Given the description of an element on the screen output the (x, y) to click on. 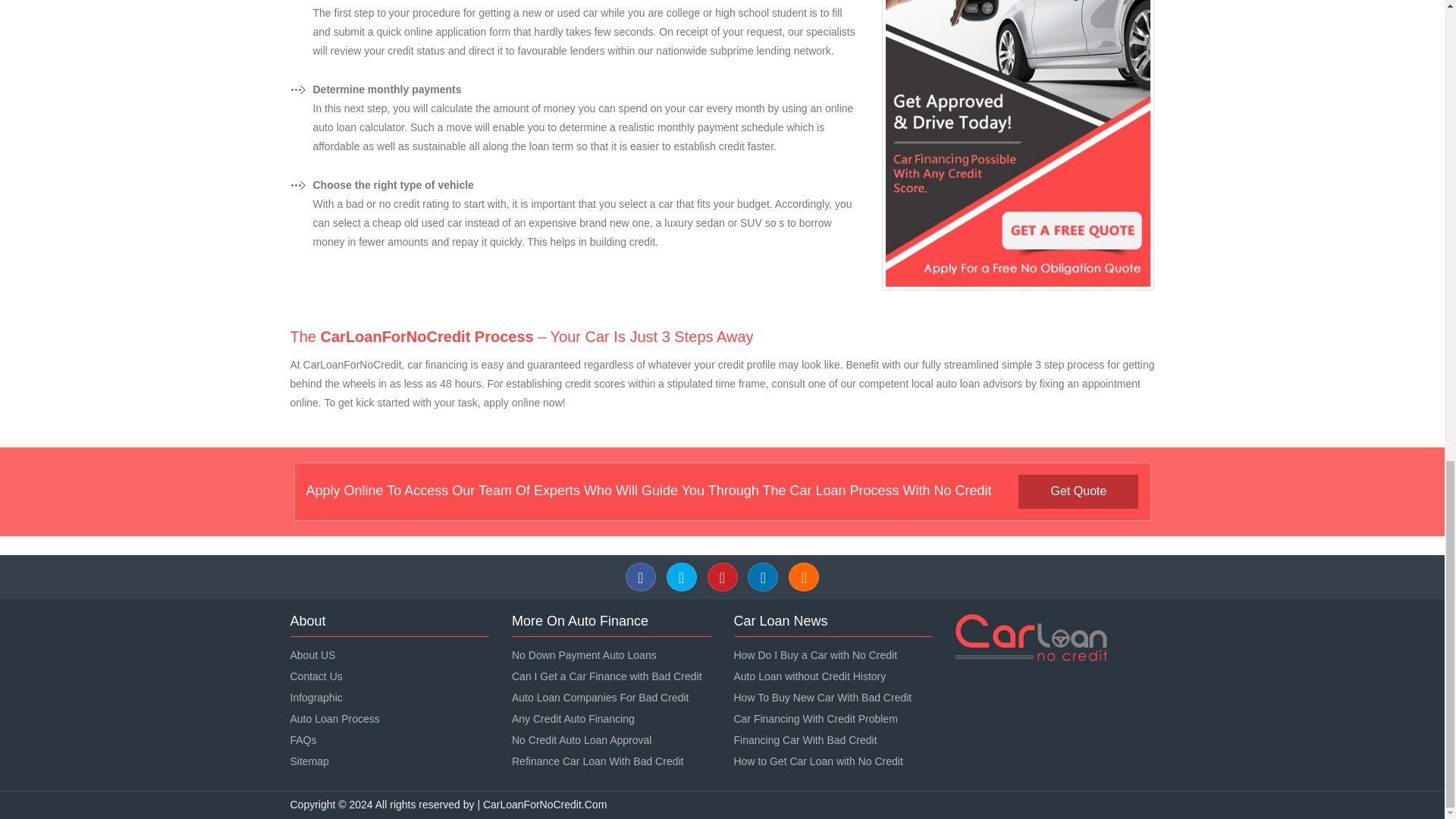
No Credit Auto Loan Approval (581, 739)
Contact Us (315, 676)
Get Quote (1077, 491)
Sitemap (309, 761)
Refinance Car Loan With Bad Credit (597, 761)
Car Financing With Credit Problem (815, 718)
No Down Payment Auto Loans (584, 654)
Auto Loan without Credit History (809, 676)
Financing Car With Bad Credit (805, 739)
Any Credit Auto Financing (573, 718)
Auto Loan Companies For Bad Credit (600, 697)
Infographic (315, 697)
How To Buy New Car With Bad Credit (822, 697)
FAQs (302, 739)
Can I Get a Car Finance with Bad Credit (606, 676)
